Given the description of an element on the screen output the (x, y) to click on. 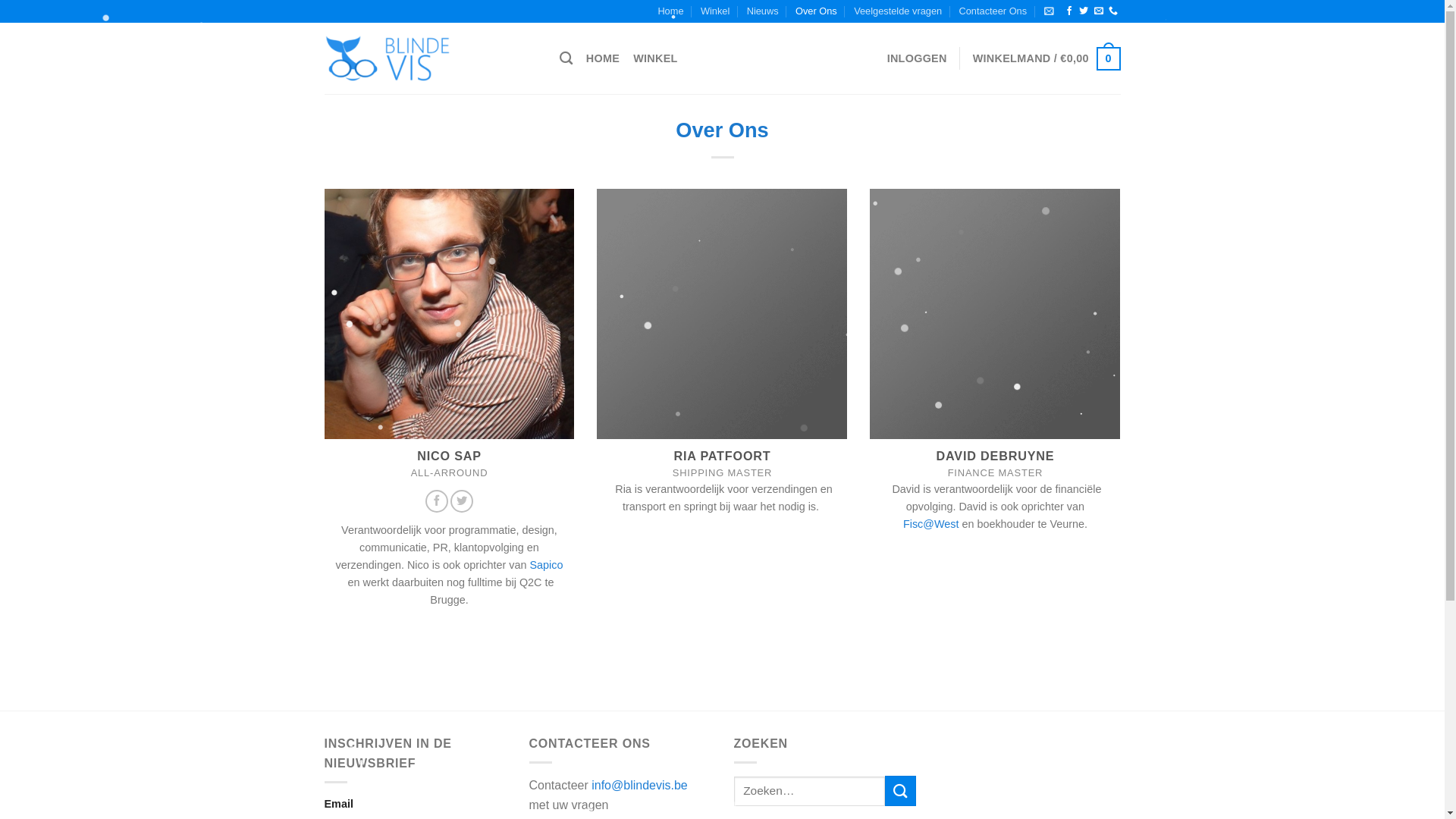
Fisc@West Element type: text (931, 524)
Over Ons Element type: text (816, 11)
Contacteer Ons Element type: text (993, 11)
Sapico Element type: text (545, 565)
Veelgestelde vragen Element type: text (897, 11)
WINKEL Element type: text (655, 58)
Winkel Element type: text (714, 11)
info@blindevis.be Element type: text (639, 784)
Nieuws Element type: text (762, 11)
HOME Element type: text (602, 58)
INLOGGEN Element type: text (917, 58)
Home Element type: text (670, 11)
